Given the description of an element on the screen output the (x, y) to click on. 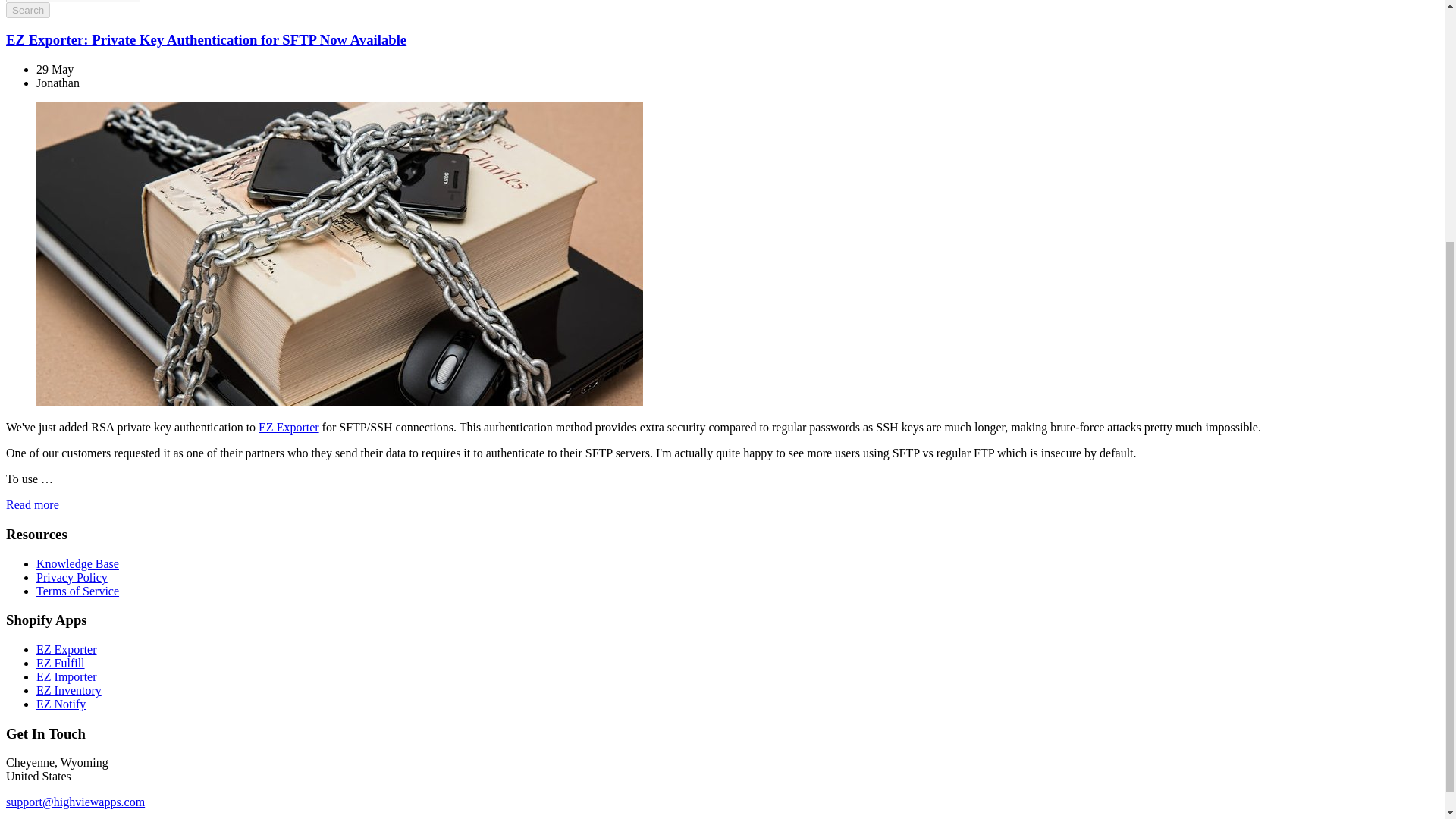
EZ Notify (60, 703)
Read more (32, 504)
EZ Exporter (288, 427)
EZ Fulfill (60, 662)
EZ Inventory (68, 689)
Knowledge Base (77, 563)
EZ Importer (66, 676)
Terms of Service (77, 590)
EZ Exporter (66, 649)
Search (27, 10)
Privacy Policy (71, 576)
